Given the description of an element on the screen output the (x, y) to click on. 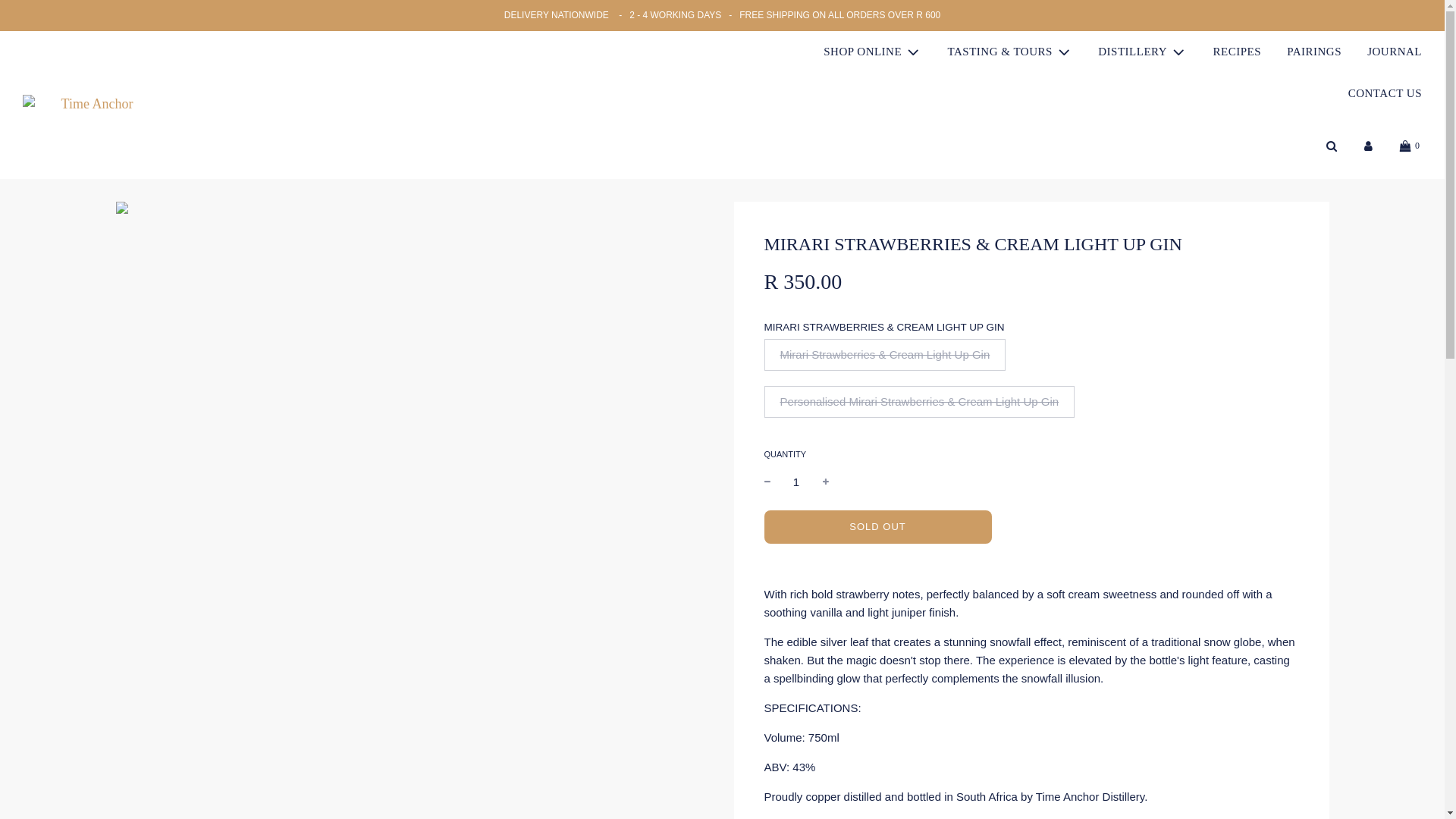
Log in (1368, 145)
SHOP ONLINE (872, 51)
1 (796, 482)
